Given the description of an element on the screen output the (x, y) to click on. 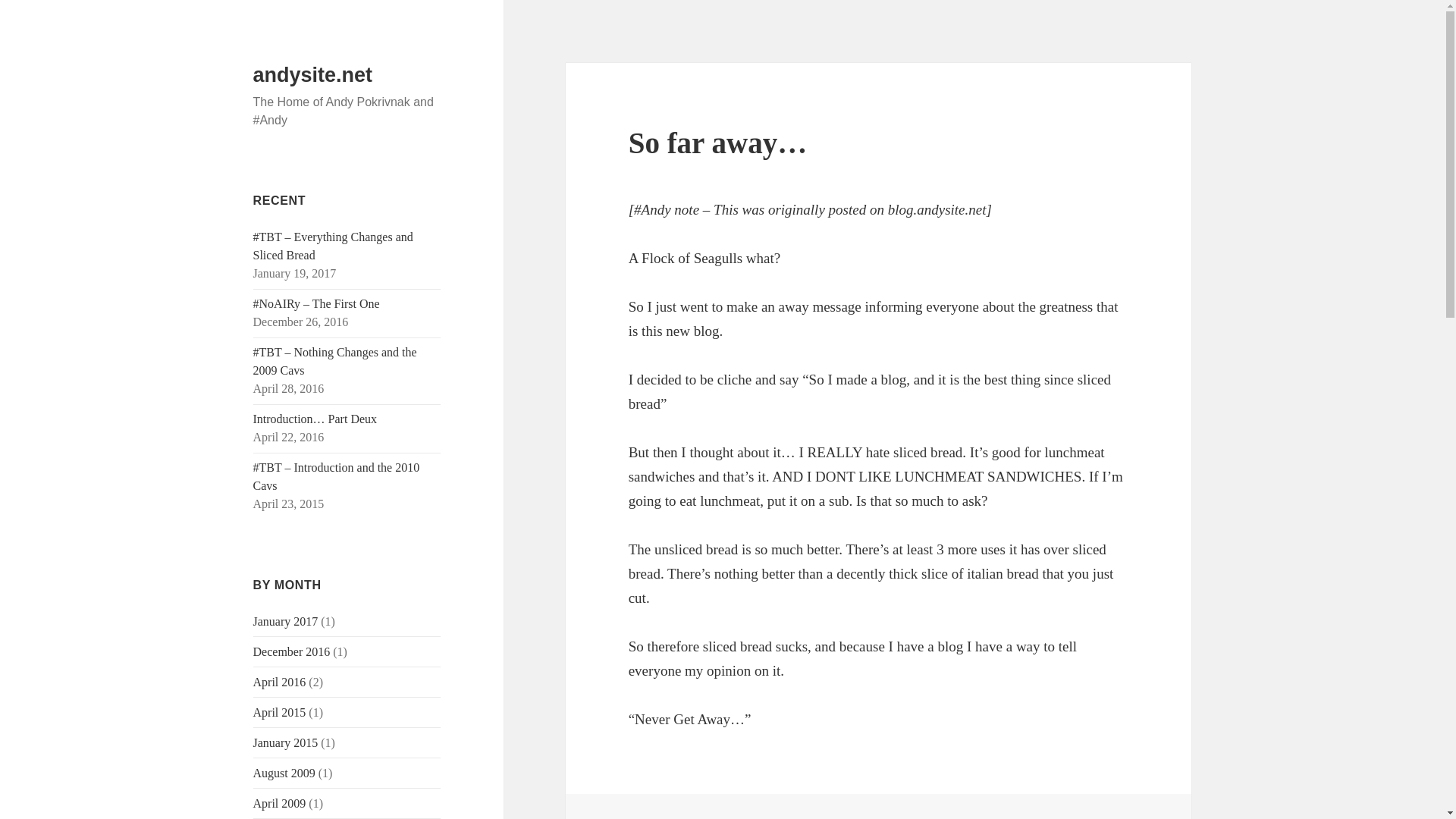
August 2009 (284, 772)
April 2009 (279, 802)
January 2017 (285, 621)
April 2015 (279, 712)
January 2015 (285, 742)
April 2016 (279, 681)
December 2016 (291, 651)
andysite.net (312, 74)
